Given the description of an element on the screen output the (x, y) to click on. 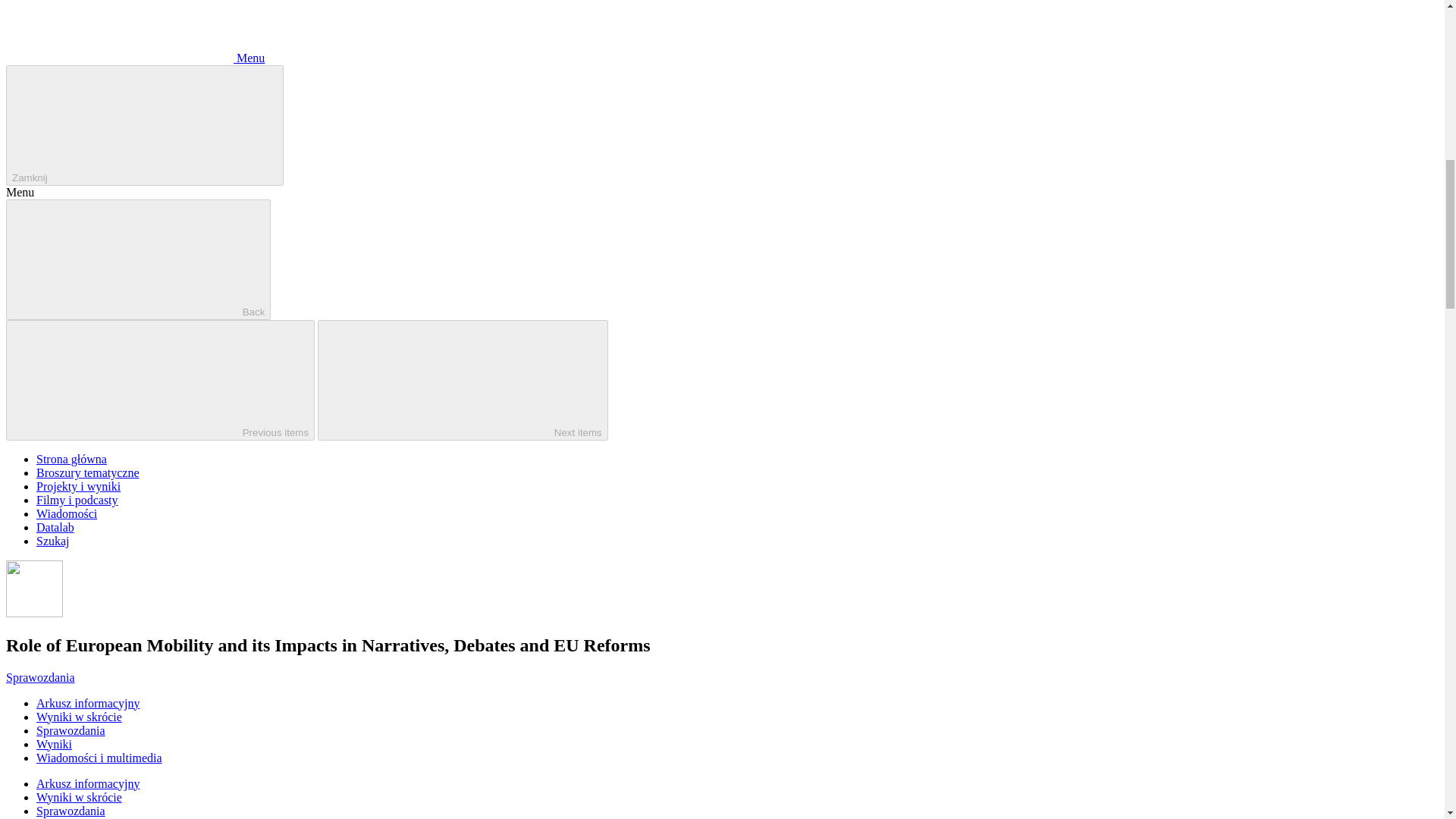
Zamknij (144, 125)
Arkusz informacyjny (87, 703)
Wyniki (53, 744)
Sprawozdania (70, 730)
Broszury tematyczne (87, 472)
Arkusz informacyjny (87, 783)
Next items (462, 380)
Back (137, 259)
Projekty i wyniki (78, 486)
